Given the description of an element on the screen output the (x, y) to click on. 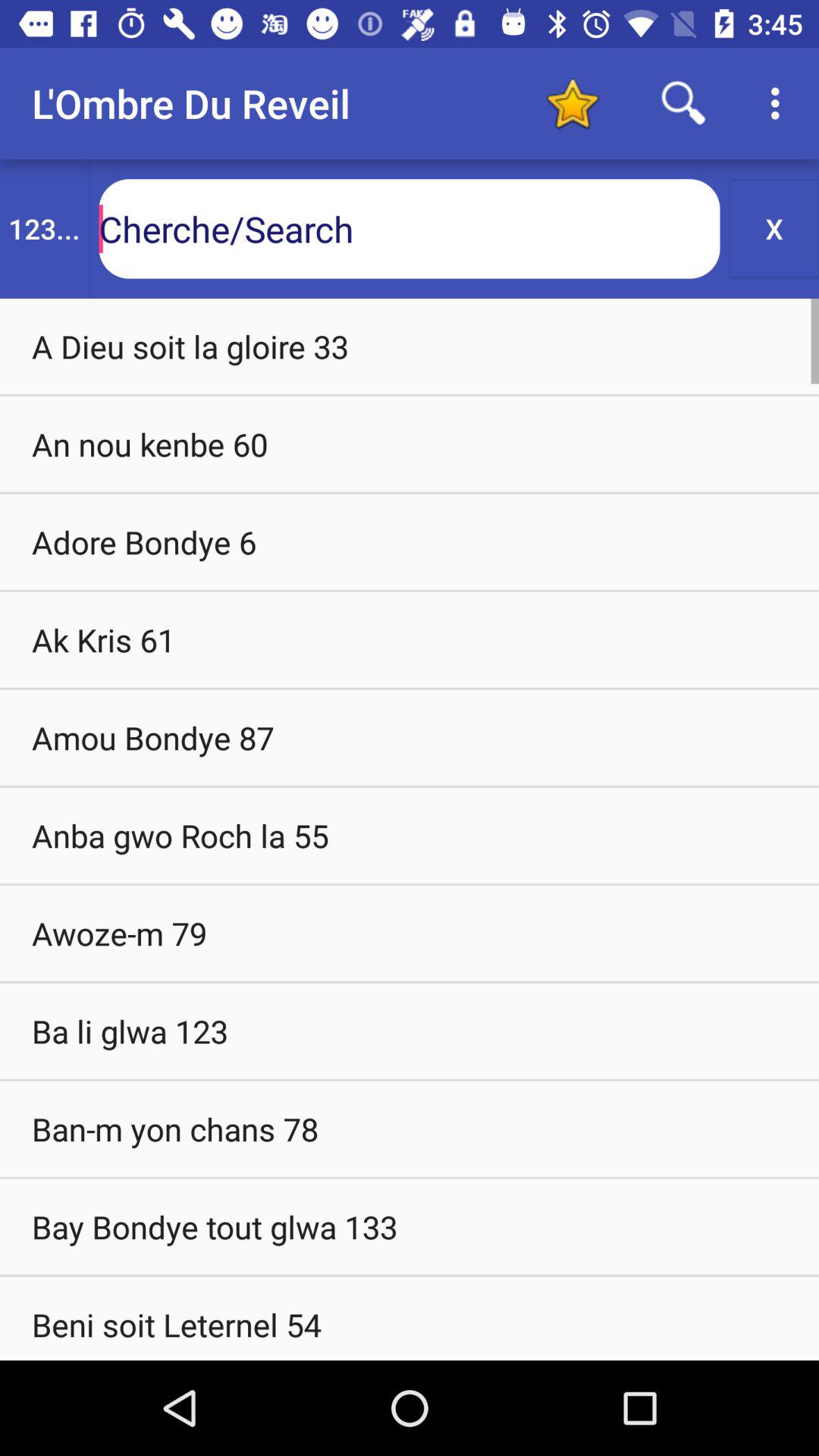
click beni soit leternel (409, 1318)
